Given the description of an element on the screen output the (x, y) to click on. 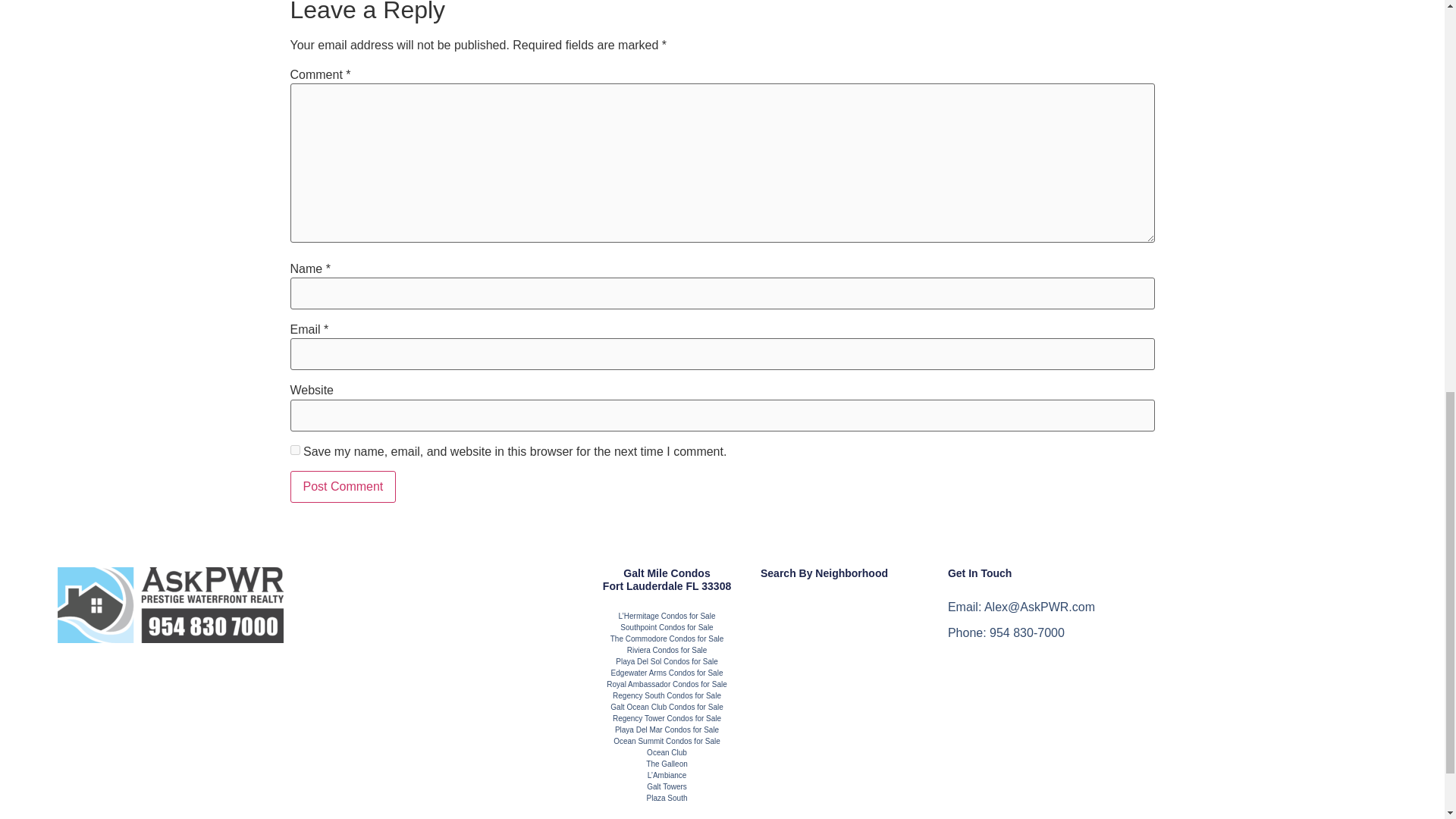
yes (294, 450)
Post Comment (342, 486)
3351 Galt Ocean Dr Fort Lauderdale, FL 33308 (1274, 659)
